Given the description of an element on the screen output the (x, y) to click on. 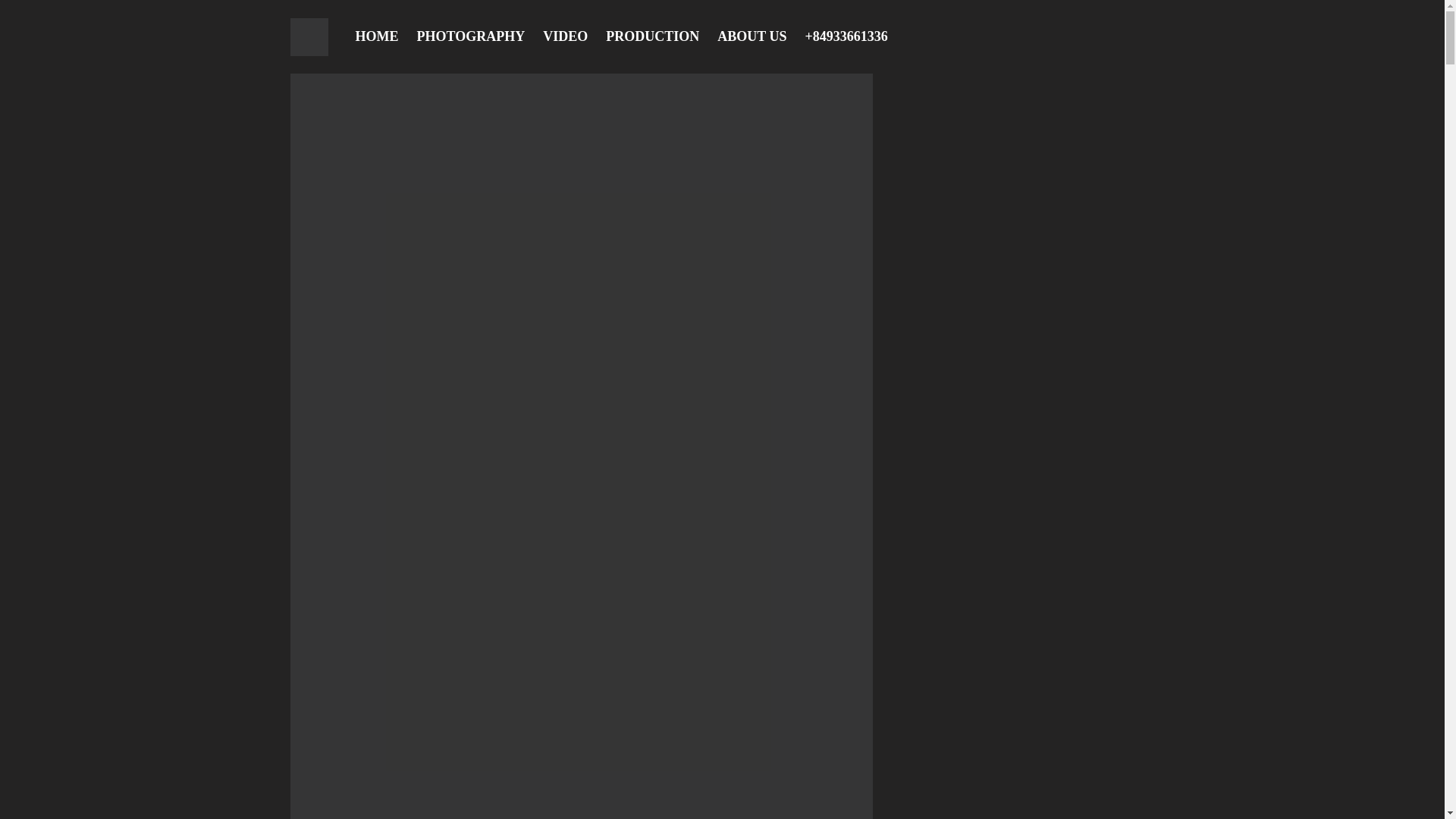
HOME (374, 36)
PHOTOGRAPHY (467, 36)
VIDEO (561, 36)
PRODUCTION (648, 36)
ABOUT US (749, 36)
